Given the description of an element on the screen output the (x, y) to click on. 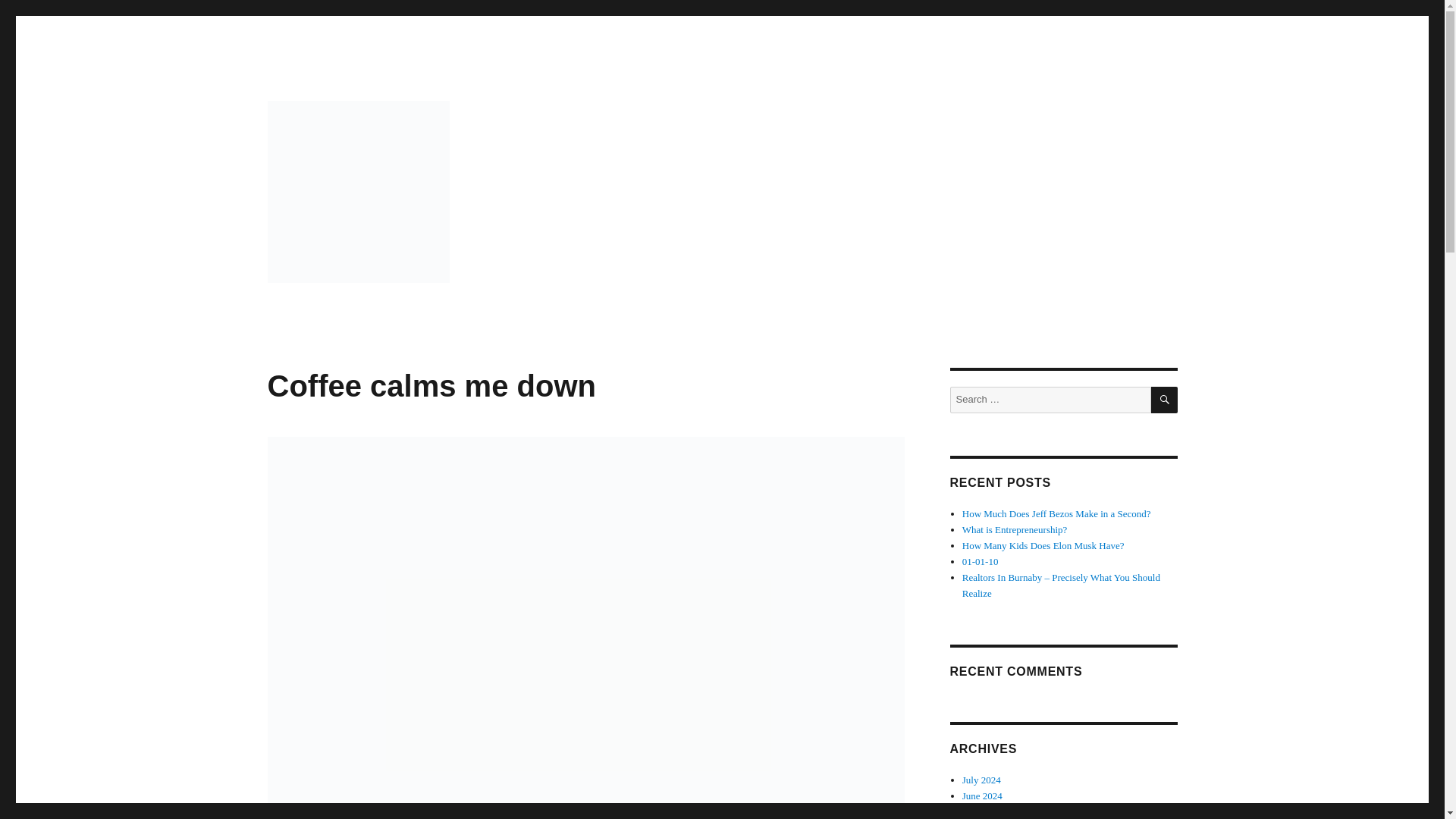
June 2024 (982, 795)
Street Smart New York (379, 306)
01-01-10 (980, 561)
July 2024 (981, 779)
How Many Kids Does Elon Musk Have? (1043, 545)
SEARCH (1164, 399)
How Much Does Jeff Bezos Make in a Second? (1056, 513)
What is Entrepreneurship? (1014, 529)
